Given the description of an element on the screen output the (x, y) to click on. 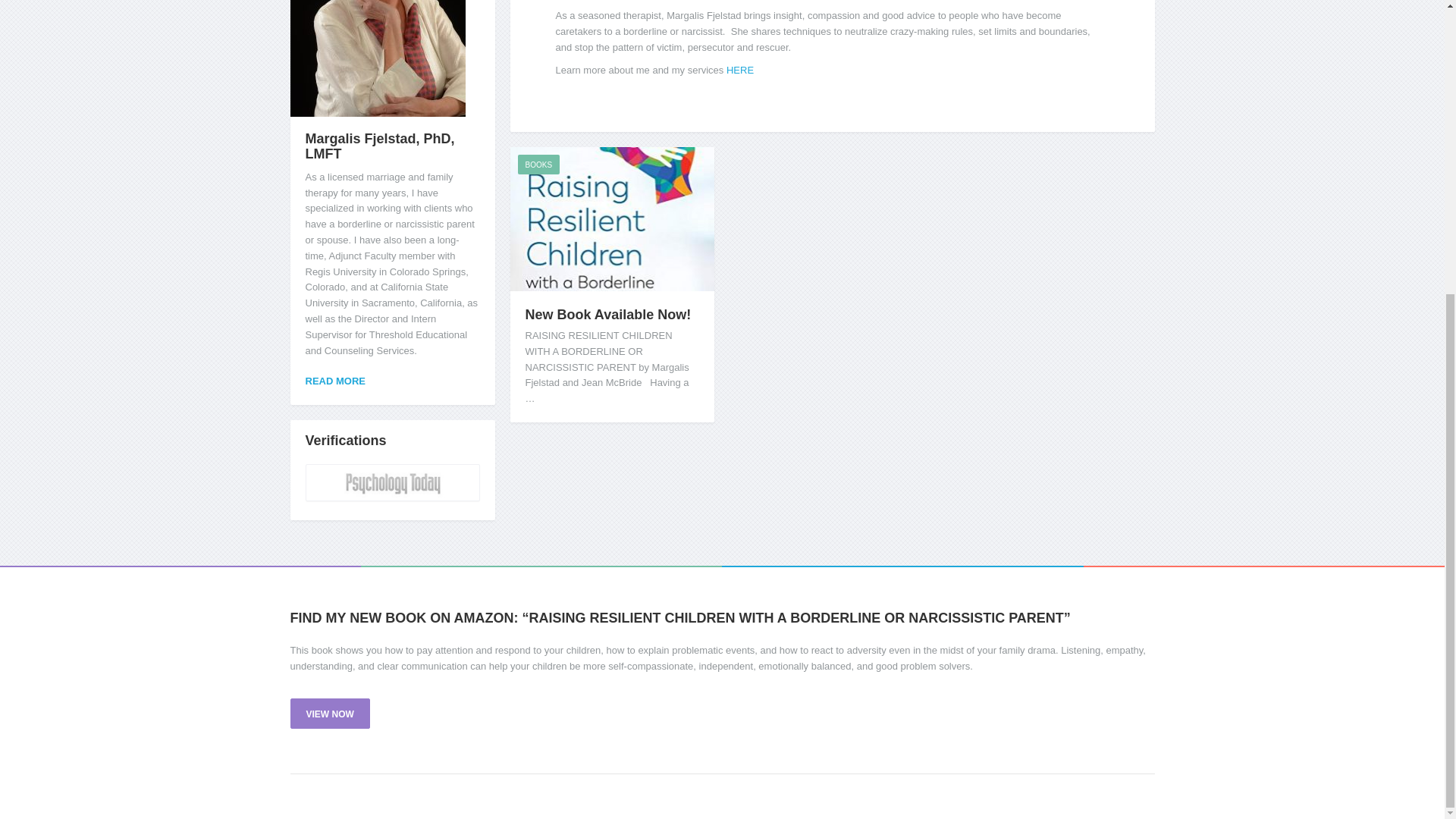
READ MORE (334, 381)
New Book Available Now! (607, 314)
VIEW NOW (329, 713)
BOOKS (537, 164)
HERE (740, 70)
